Given the description of an element on the screen output the (x, y) to click on. 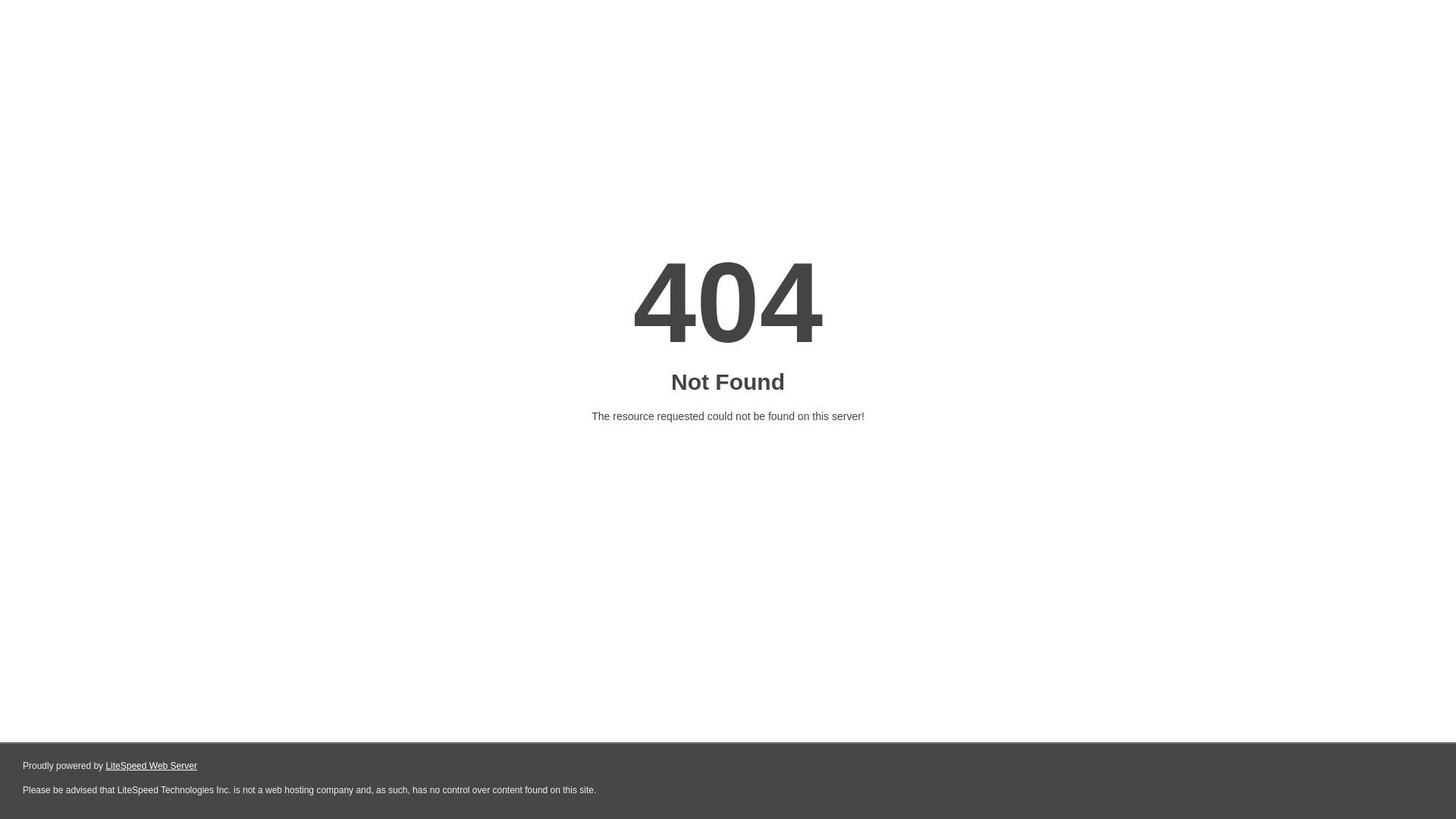
LiteSpeed Web Server Element type: text (151, 765)
